Given the description of an element on the screen output the (x, y) to click on. 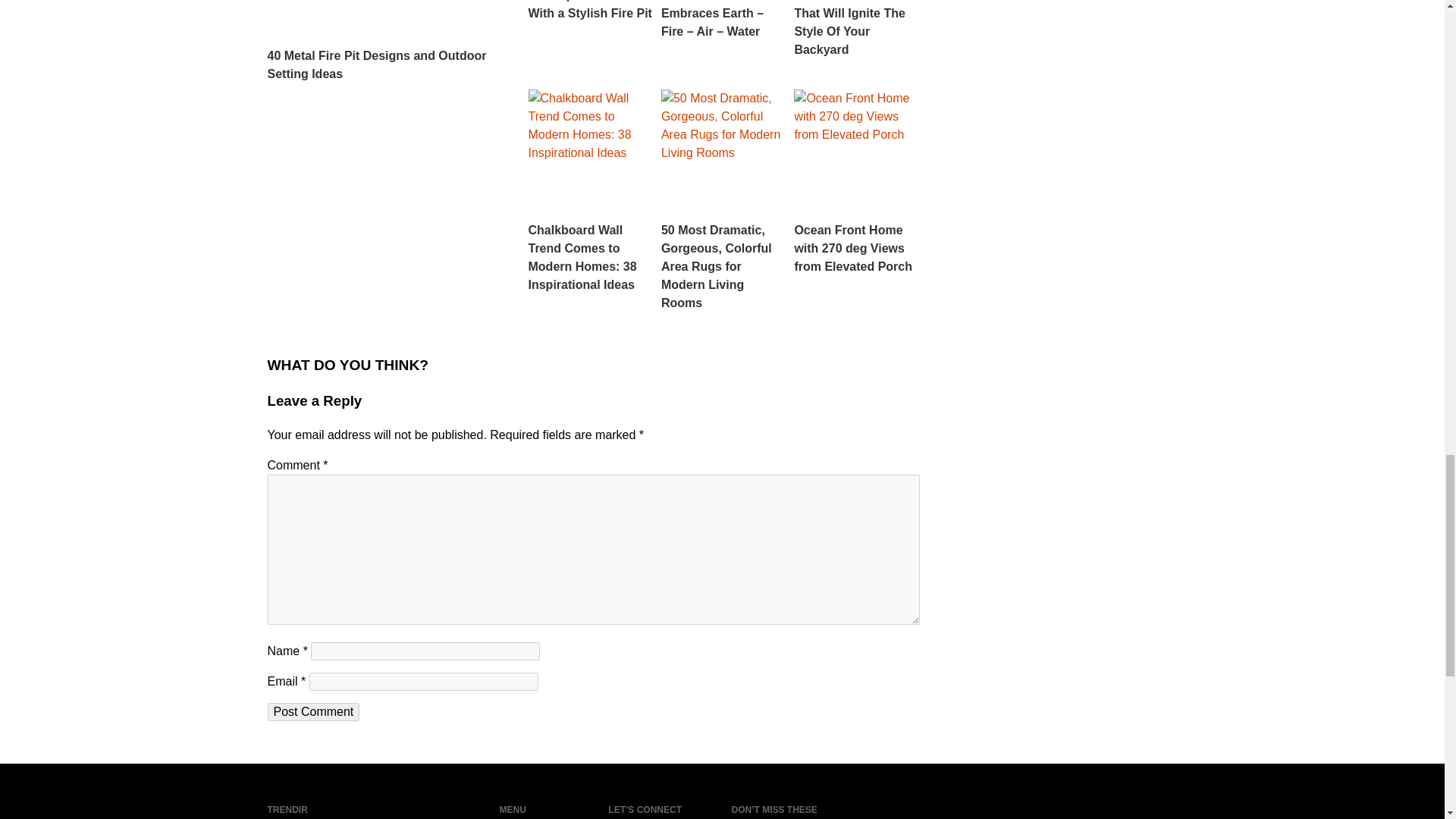
40 Metal Fire Pit Designs and Outdoor Setting Ideas (385, 41)
40 Metal Fire Pit Designs and Outdoor Setting Ideas (385, 41)
Post Comment (312, 711)
Turn Up the Heat With a Stylish Fire Pit (589, 11)
Turn Up the Heat With a Stylish Fire Pit (589, 11)
